Given the description of an element on the screen output the (x, y) to click on. 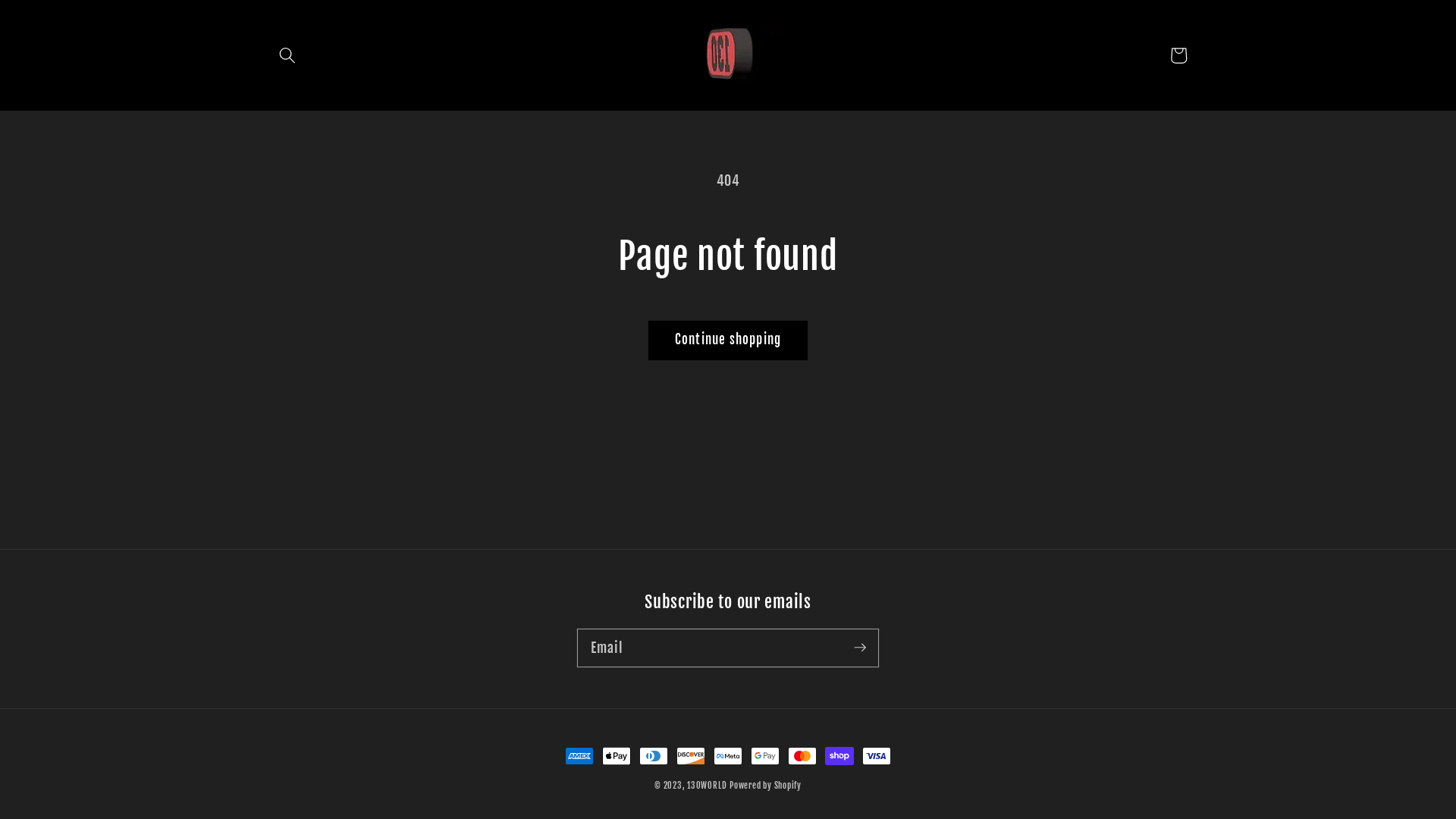
130WORLD Element type: text (706, 785)
Continue shopping Element type: text (727, 340)
Powered by Shopify Element type: text (765, 785)
Cart Element type: text (1178, 55)
